Given the description of an element on the screen output the (x, y) to click on. 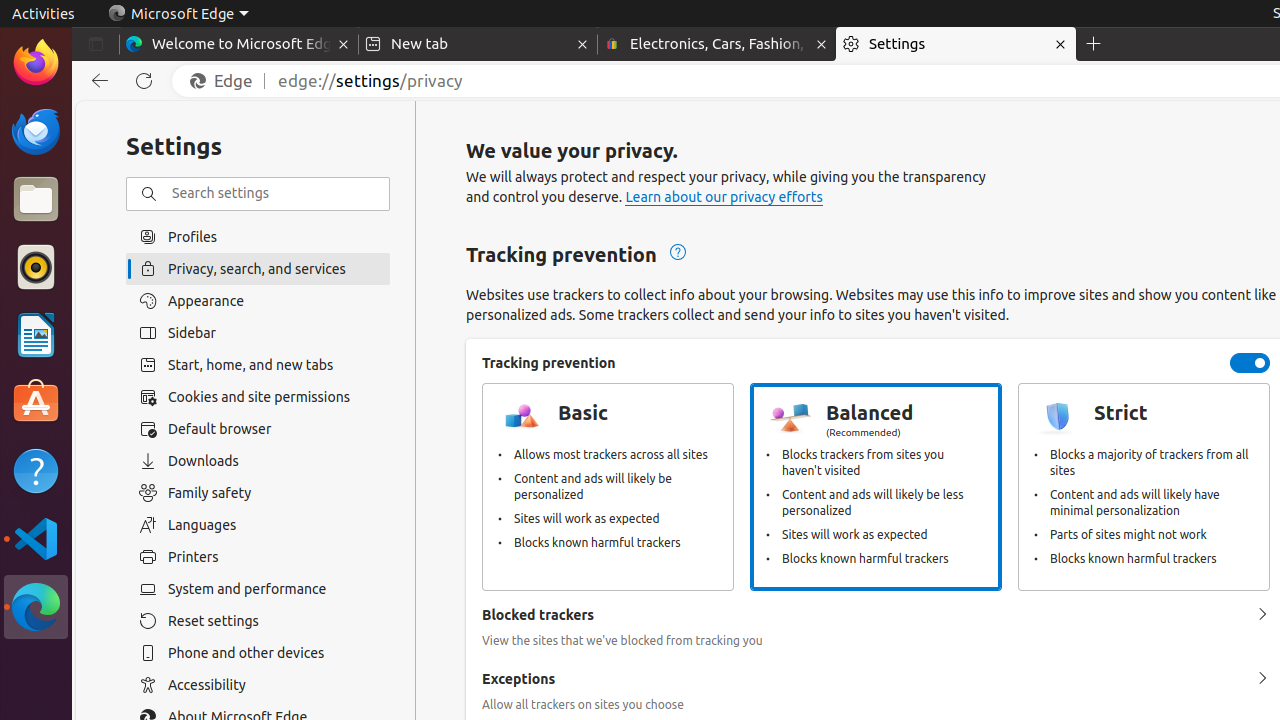
Privacy, search, and services Element type: tree-item (258, 268)
Edge Element type: push-button (226, 81)
Reset settings Element type: tree-item (258, 621)
System and performance Element type: tree-item (258, 589)
Blocked trackers Element type: push-button (1262, 615)
